Given the description of an element on the screen output the (x, y) to click on. 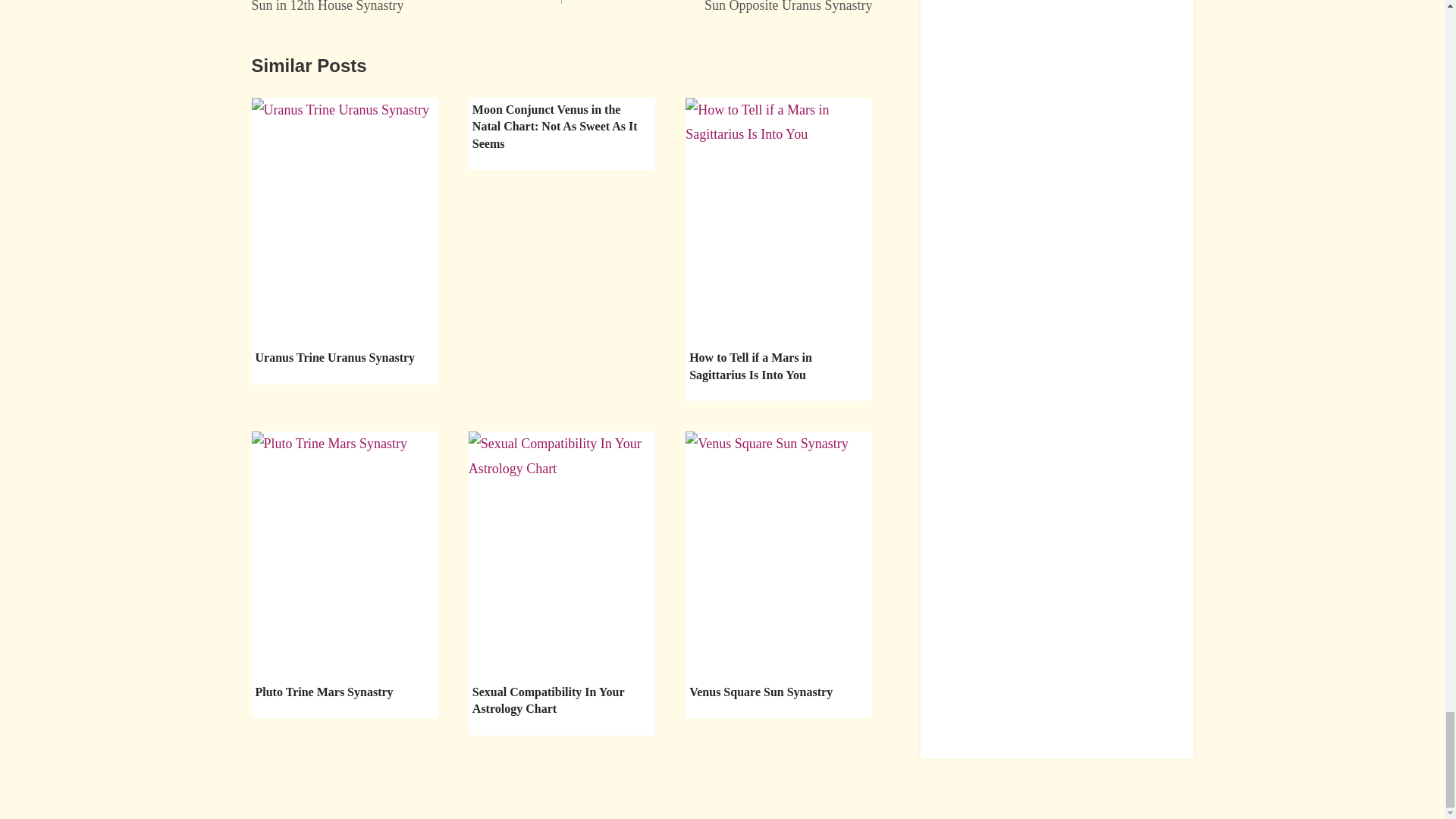
Uranus Trine Uranus Synastry (717, 9)
